Given the description of an element on the screen output the (x, y) to click on. 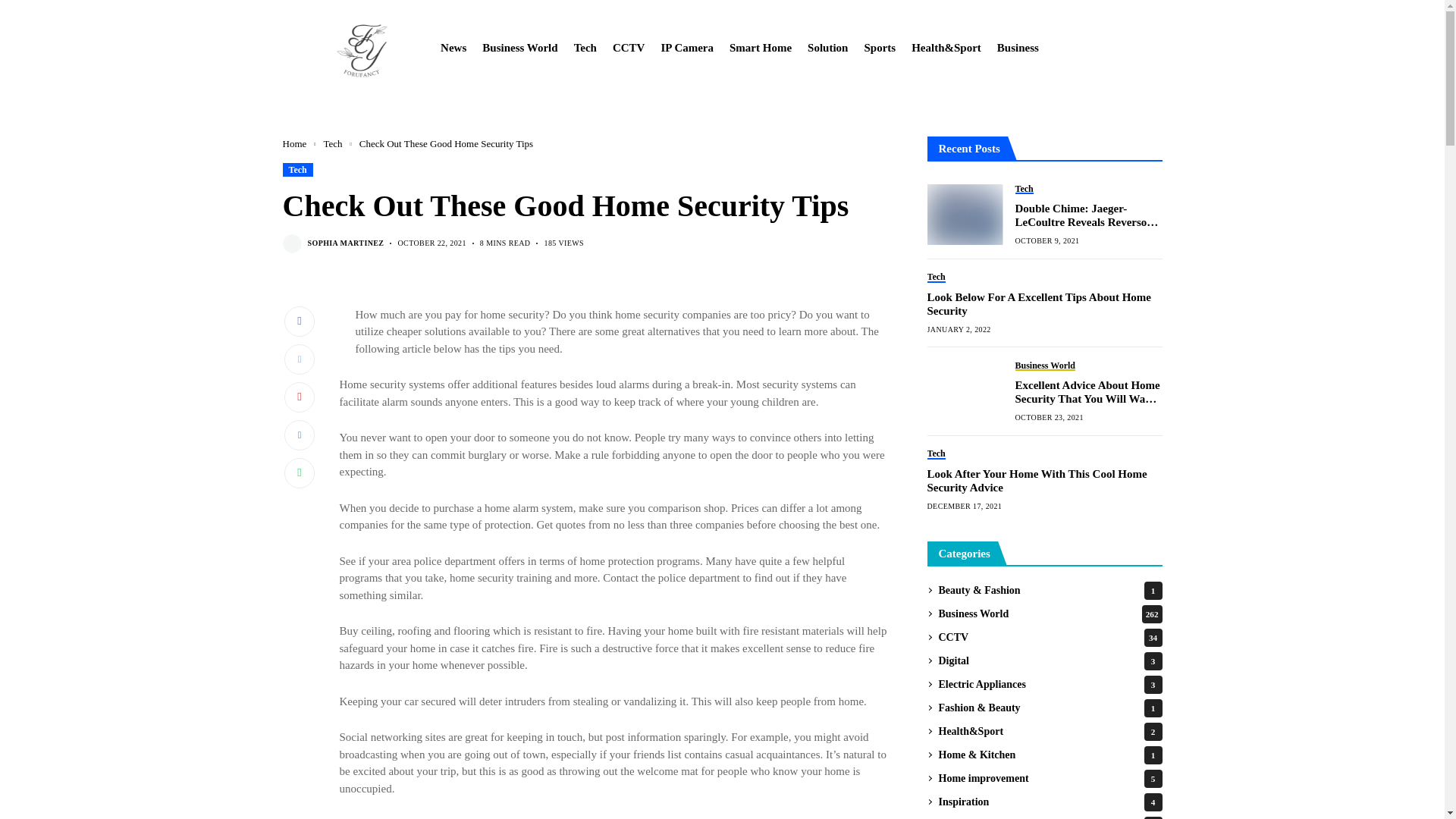
Business World (519, 48)
Home (293, 143)
Posts by Sophia Martinez (345, 243)
Smart Home (760, 48)
Tech (332, 143)
SOPHIA MARTINEZ (345, 243)
Tech (297, 169)
